Given the description of an element on the screen output the (x, y) to click on. 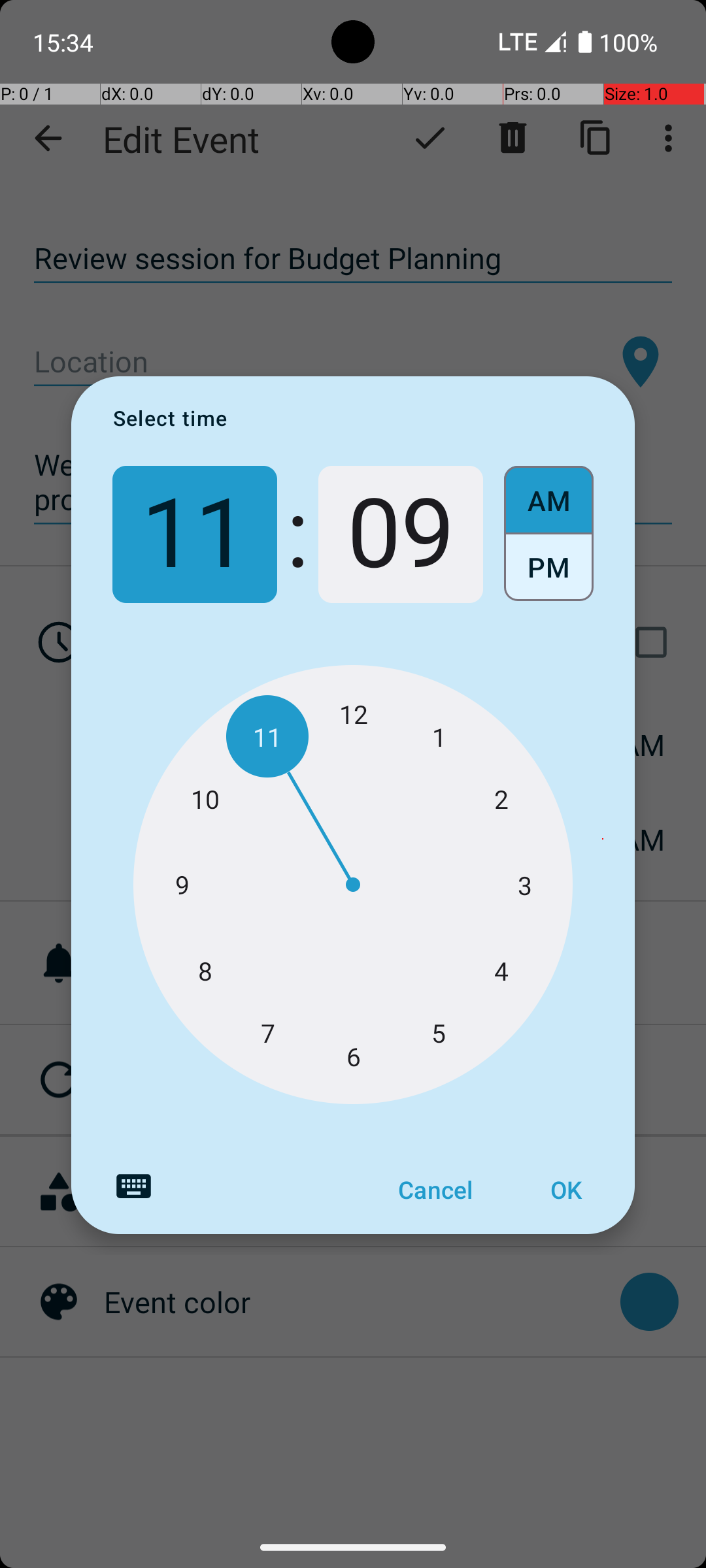
09 Element type: android.view.View (400, 534)
